Given the description of an element on the screen output the (x, y) to click on. 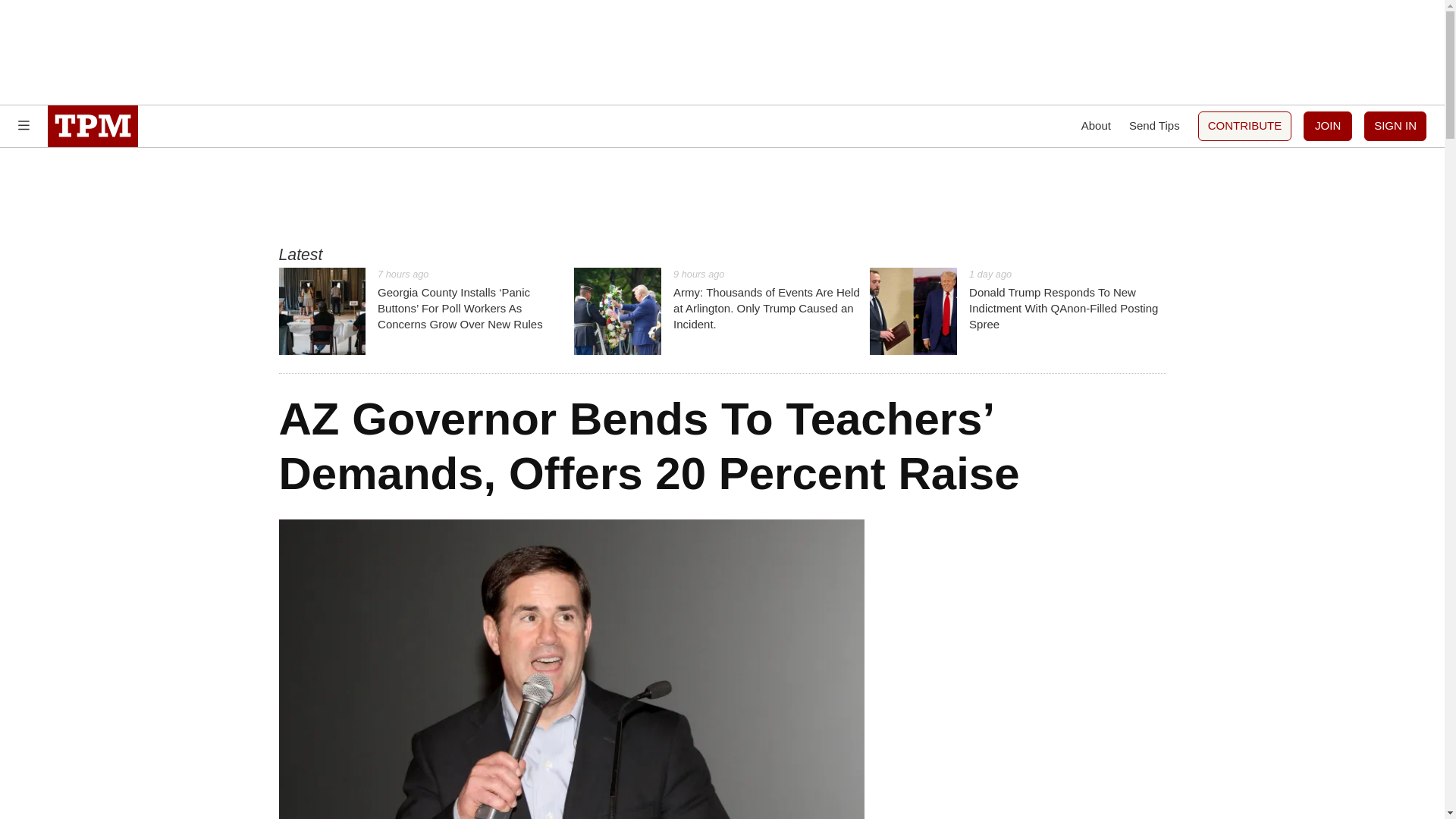
Send Tips (1154, 125)
About (1095, 125)
CONTRIBUTE (1245, 125)
SIGN IN (1395, 125)
JOIN (1327, 125)
